Given the description of an element on the screen output the (x, y) to click on. 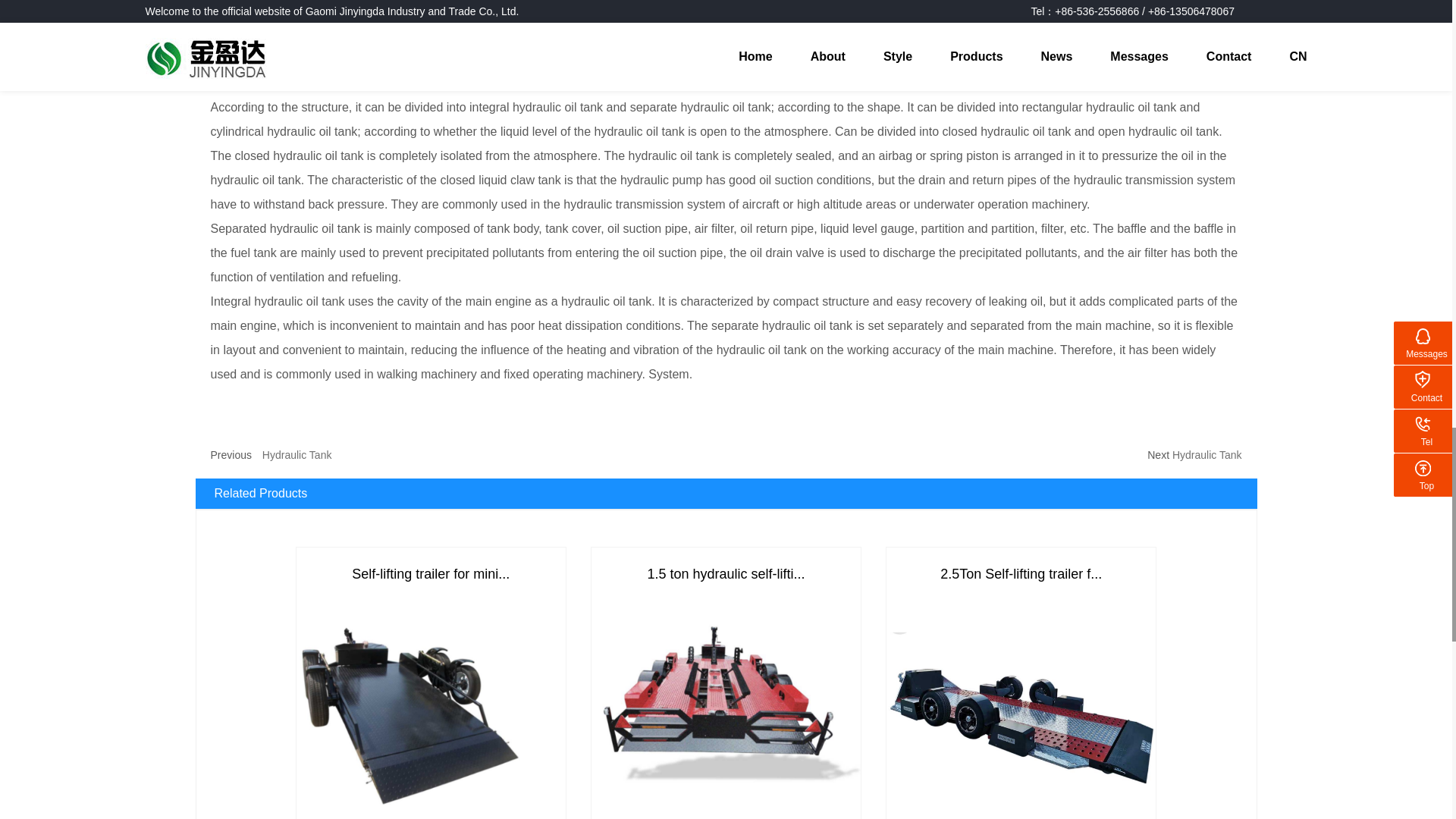
Gaomi Jinyingda Industry and Trade Co., Ltd. (1021, 707)
Gaomi Jinyingda Industry and Trade Co., Ltd. (352, 69)
Hydraulic Tank (296, 453)
Self-lifting trailer for mini excavator Specification: BM-W1 (429, 573)
Gaomi Jinyingda Industry and Trade Co., Ltd. (725, 705)
Gaomi Jinyingda Industry and Trade Co., Ltd. (429, 708)
Hydraulic Tank (1206, 453)
